Given the description of an element on the screen output the (x, y) to click on. 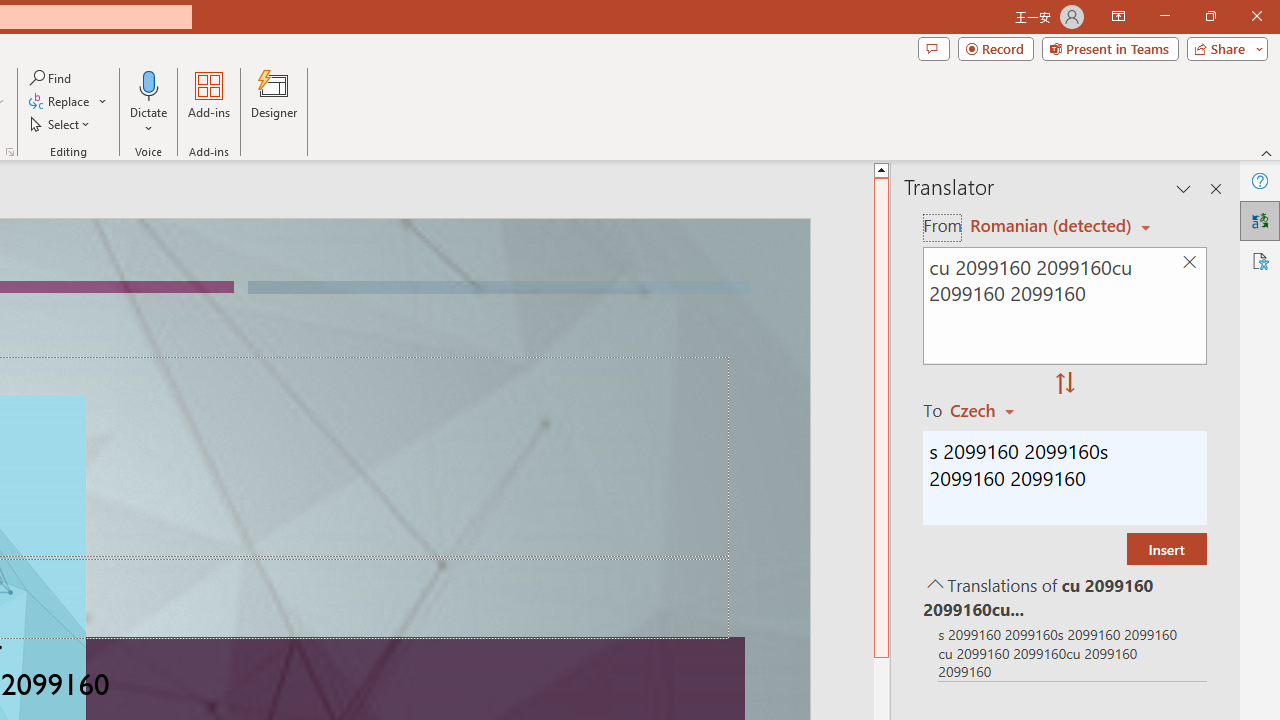
Dictate (149, 102)
Designer (274, 102)
Close pane (1215, 188)
Swap "from" and "to" languages. (1065, 383)
Translator (1260, 220)
Select (61, 124)
Dictate (149, 84)
